Given the description of an element on the screen output the (x, y) to click on. 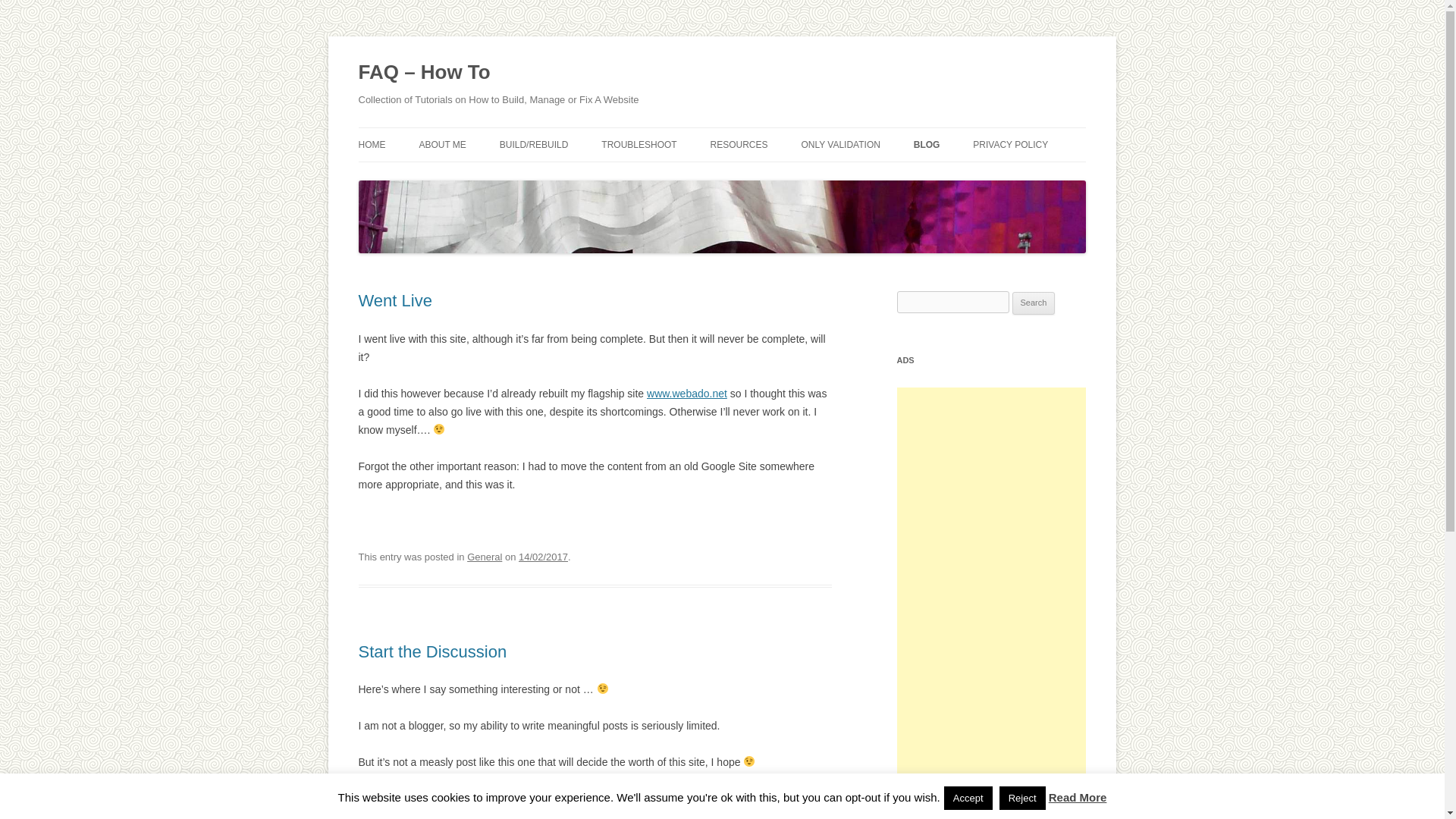
Search (1033, 302)
Search (1033, 302)
Accept (967, 797)
Troubleshooting Search Engine Problems (639, 144)
Start the Discussion (432, 651)
Build or Rebuild A  Site (534, 144)
General (484, 797)
4:43 pm (542, 556)
ONLY VALIDATION (839, 144)
